Given the description of an element on the screen output the (x, y) to click on. 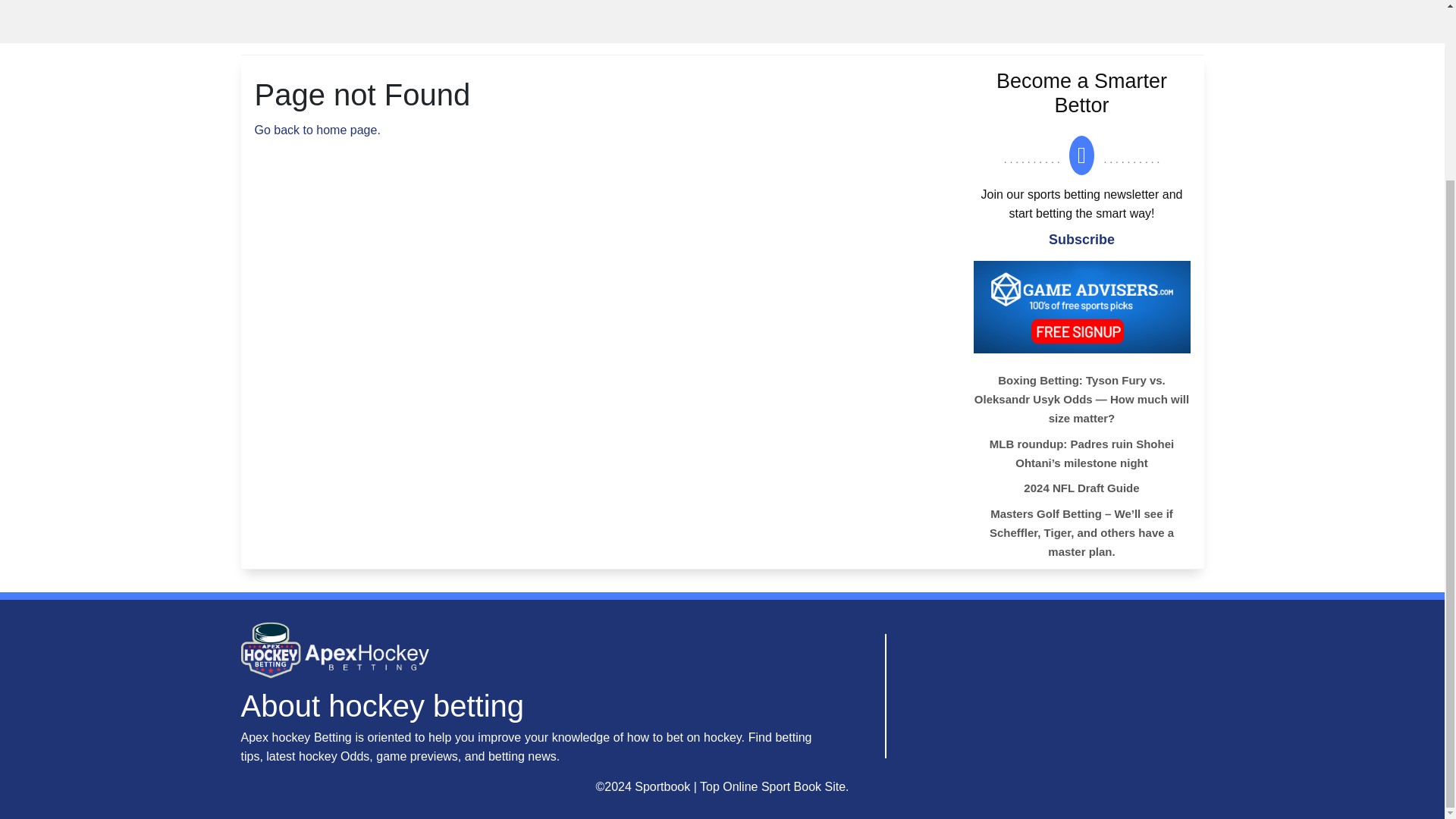
Subscribe (1081, 239)
Go back to home page. (317, 129)
2024 NFL Draft Guide (1131, 489)
